Given the description of an element on the screen output the (x, y) to click on. 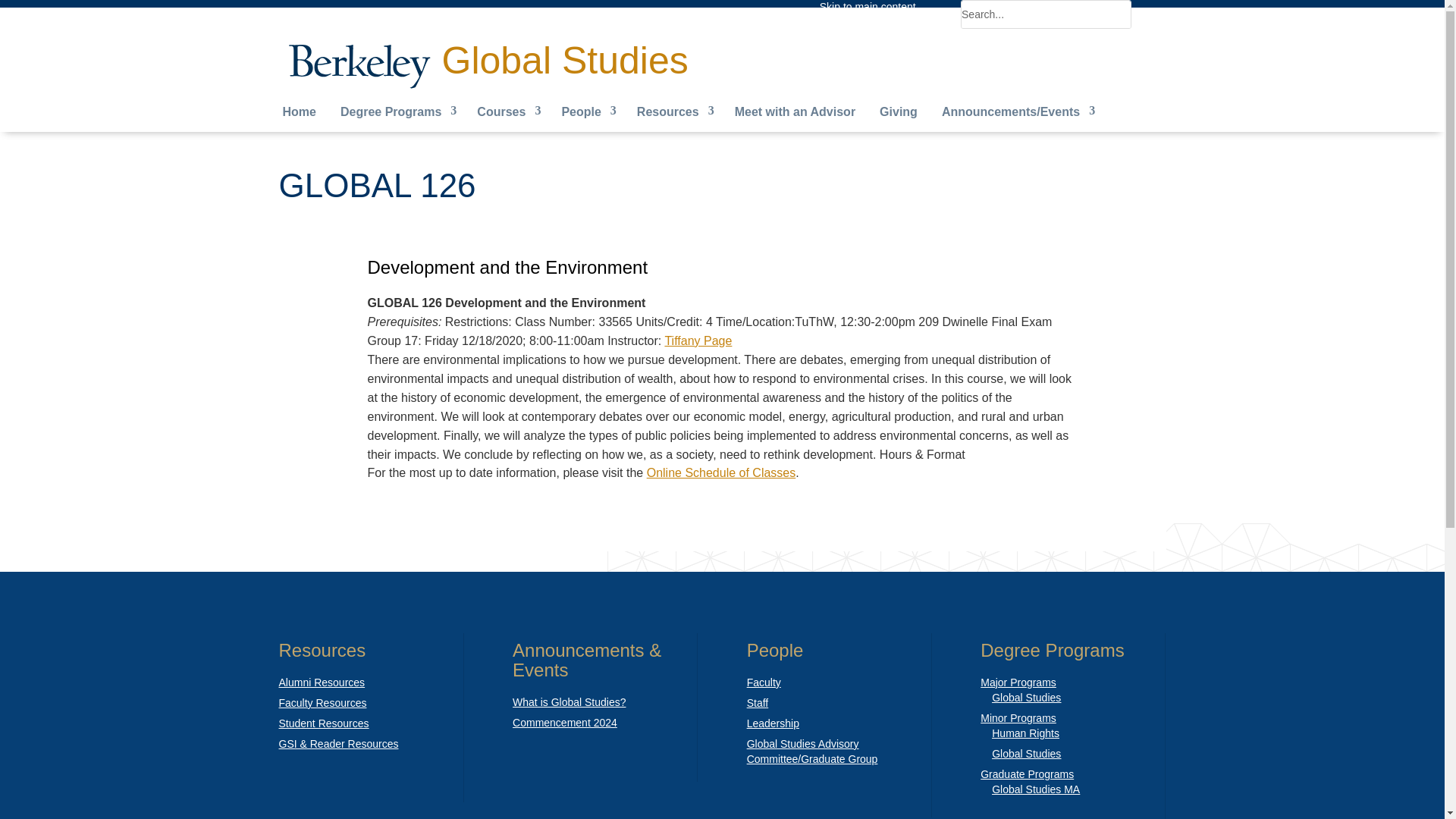
Skip to main content (867, 6)
Berkeley Logo (358, 64)
